Given the description of an element on the screen output the (x, y) to click on. 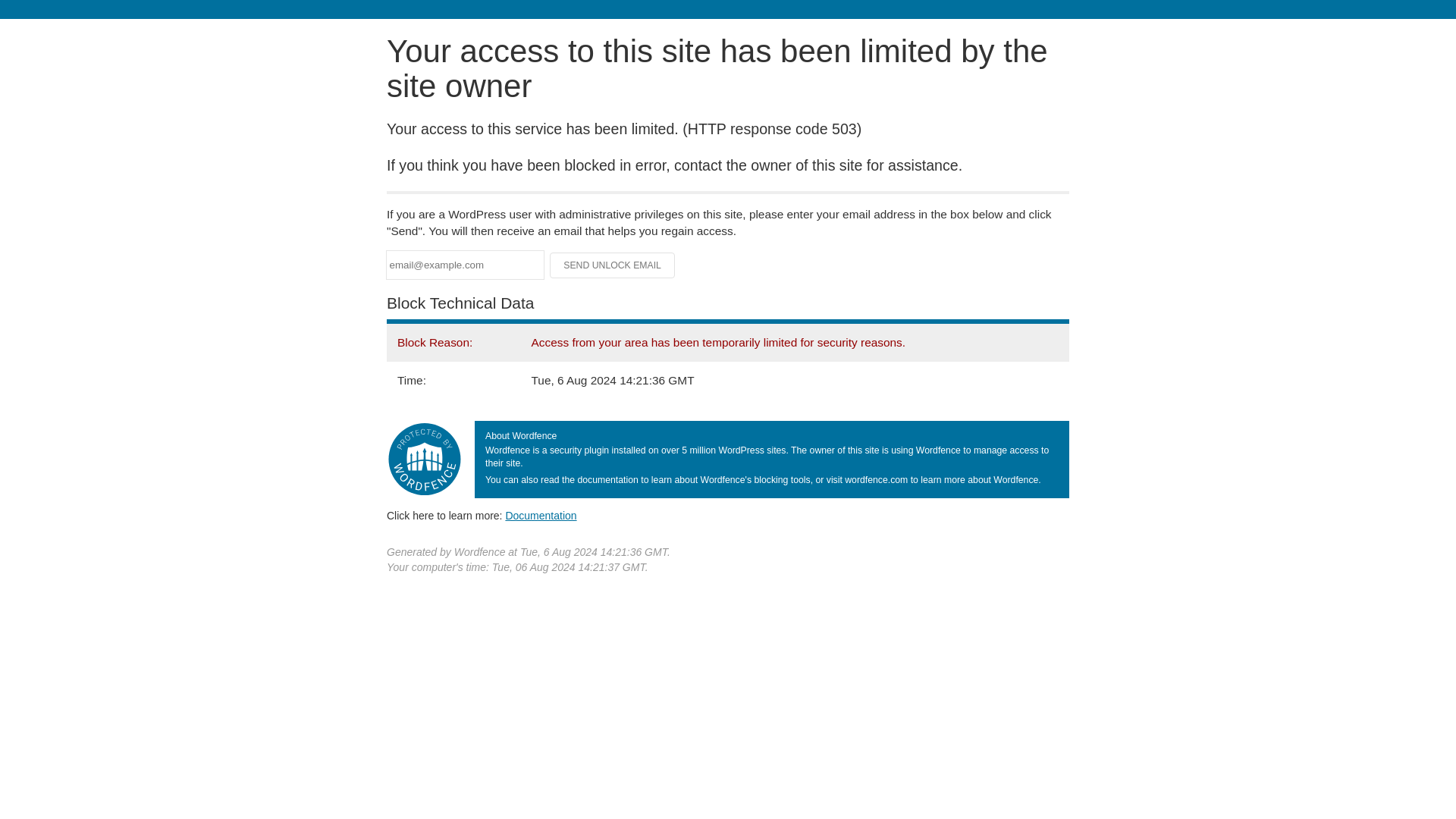
Send Unlock Email (612, 265)
Documentation (540, 515)
Send Unlock Email (612, 265)
